Given the description of an element on the screen output the (x, y) to click on. 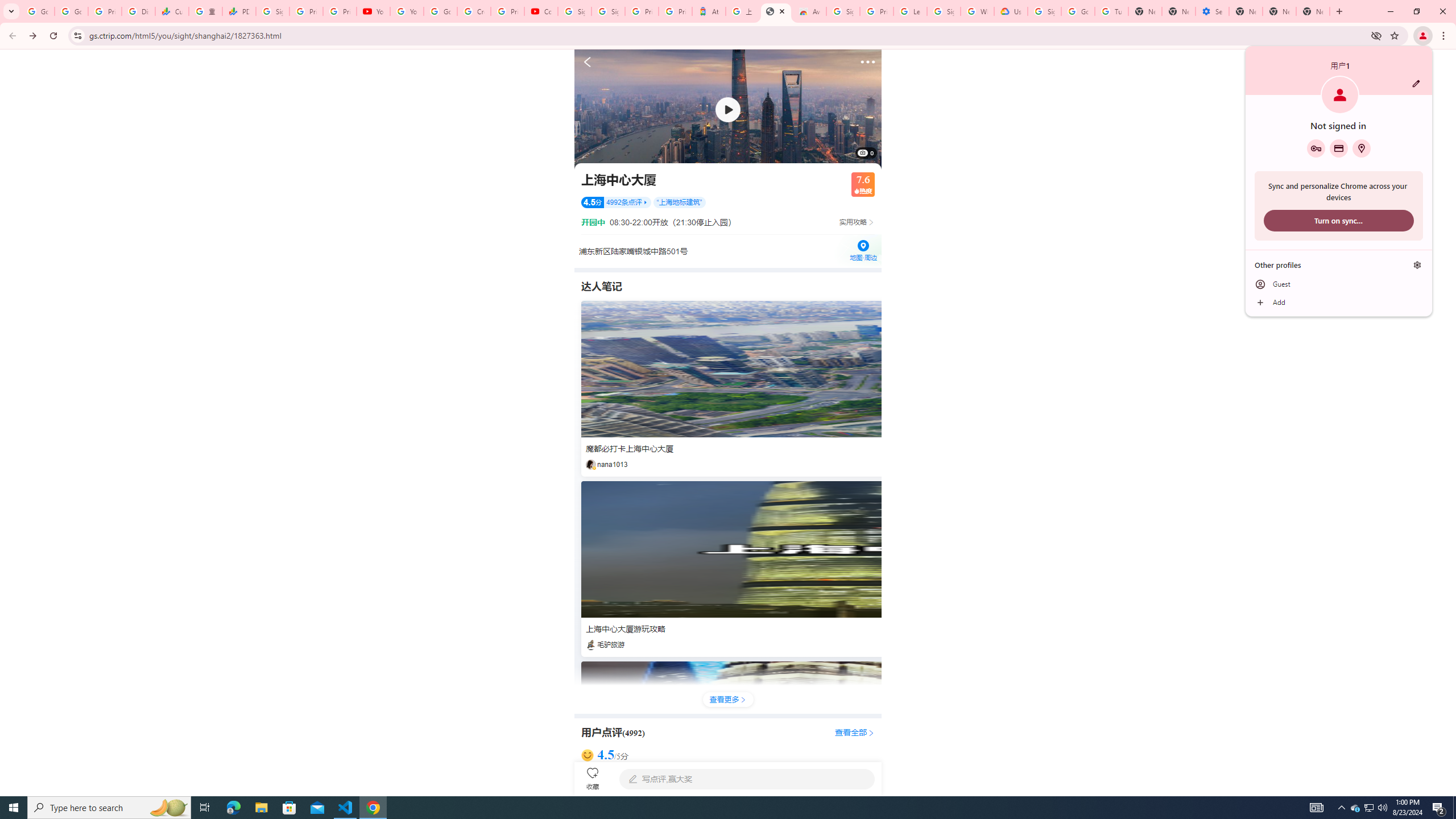
Google Account Help (1077, 11)
Google Account Help (441, 11)
Microsoft Edge (233, 807)
Manage profiles (1417, 265)
Content Creator Programs & Opportunities - YouTube Creators (541, 11)
Sign in - Google Accounts (574, 11)
Who are Google's partners? - Privacy and conditions - Google (976, 11)
Task View (204, 807)
New Tab (1246, 11)
Start (13, 807)
Awesome Screen Recorder & Screenshot - Chrome Web Store (809, 11)
Running applications (717, 807)
Addresses and more (1361, 148)
